Given the description of an element on the screen output the (x, y) to click on. 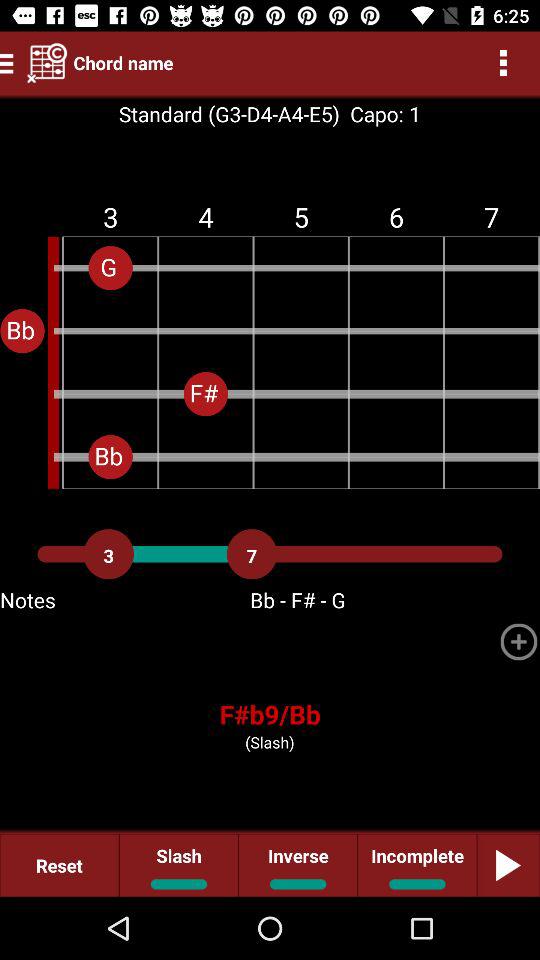
flip until the incomplete (416, 864)
